Given the description of an element on the screen output the (x, y) to click on. 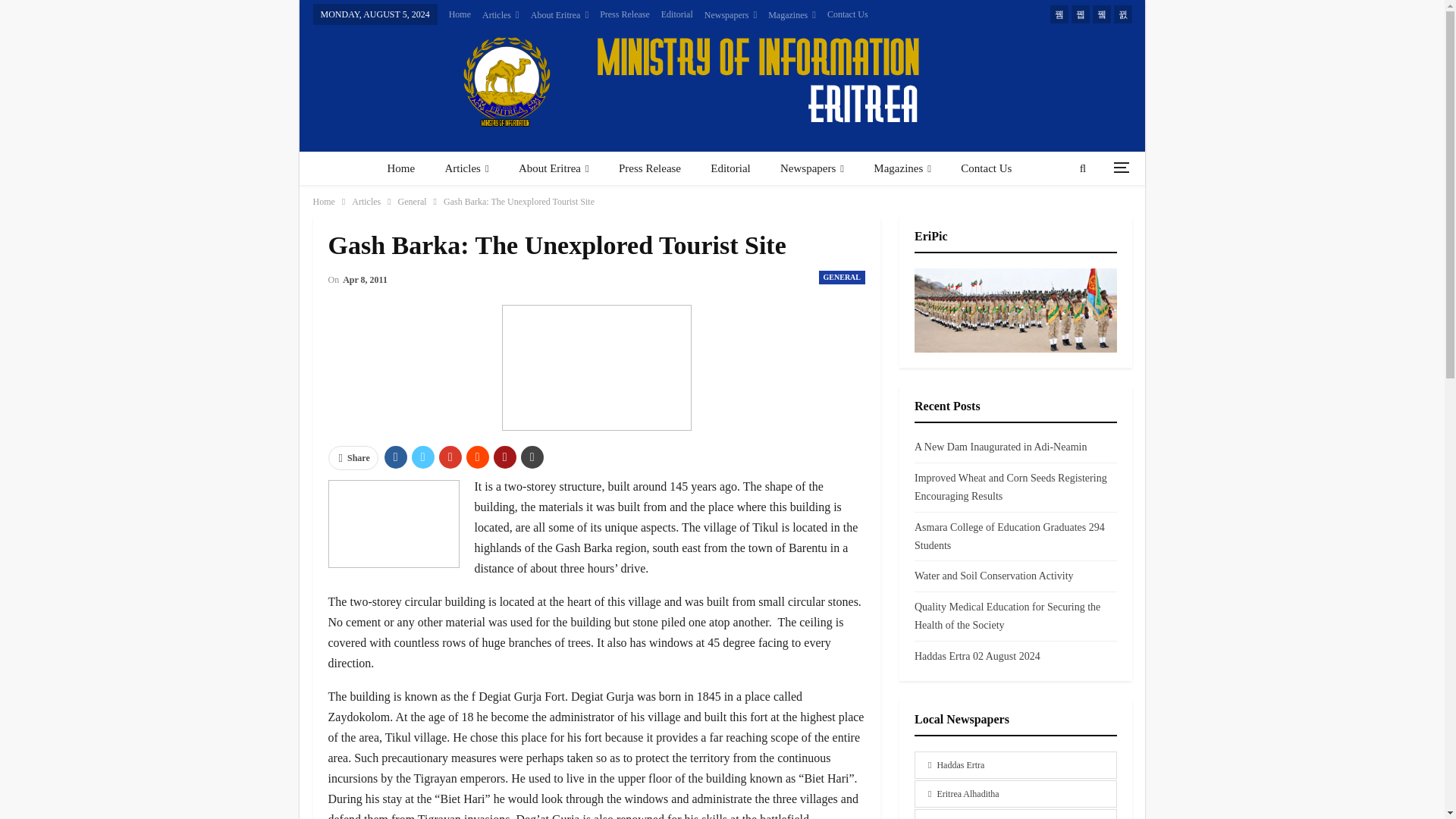
Articles (500, 14)
Editorial (677, 14)
Contact Us (847, 14)
Magazines (791, 14)
Home (459, 14)
Home (400, 168)
Press Release (624, 14)
About Eritrea (559, 14)
Articles (466, 168)
Newspapers (730, 14)
